Given the description of an element on the screen output the (x, y) to click on. 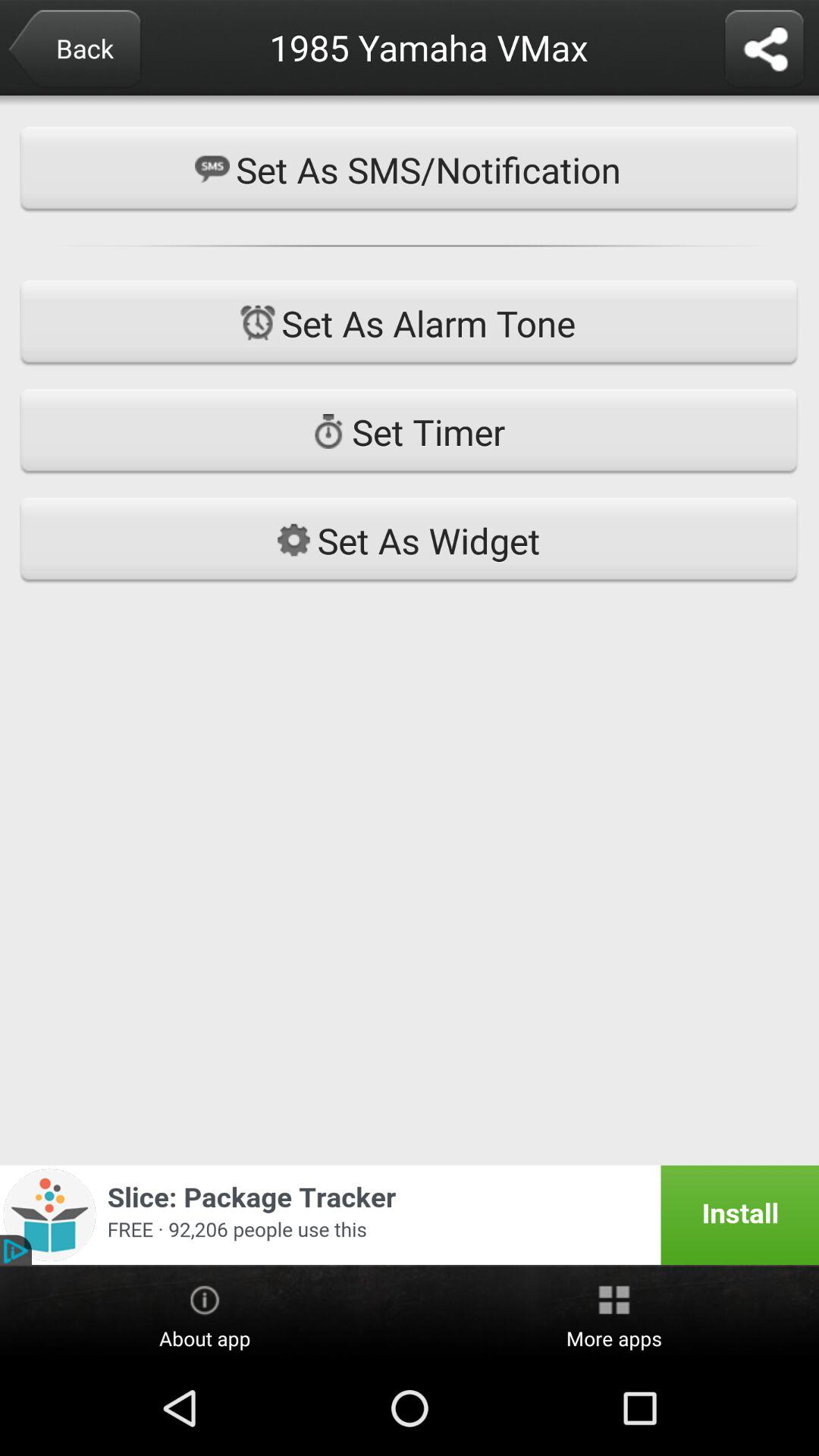
choose the back item (73, 50)
